Given the description of an element on the screen output the (x, y) to click on. 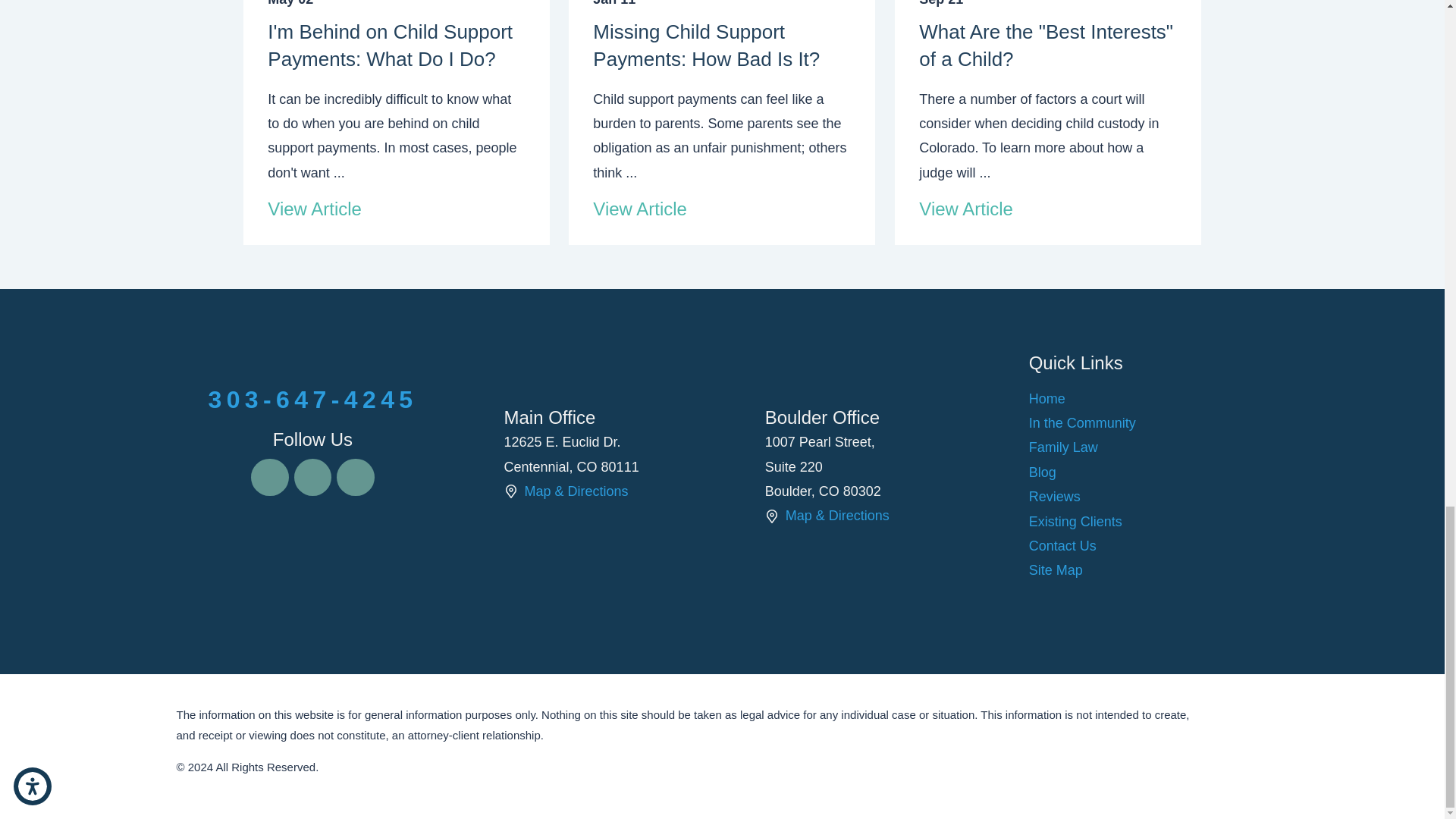
Facebook (269, 477)
Twitter (312, 477)
LinkedIn (355, 477)
Site Icon (509, 490)
Site Icon (771, 516)
